Given the description of an element on the screen output the (x, y) to click on. 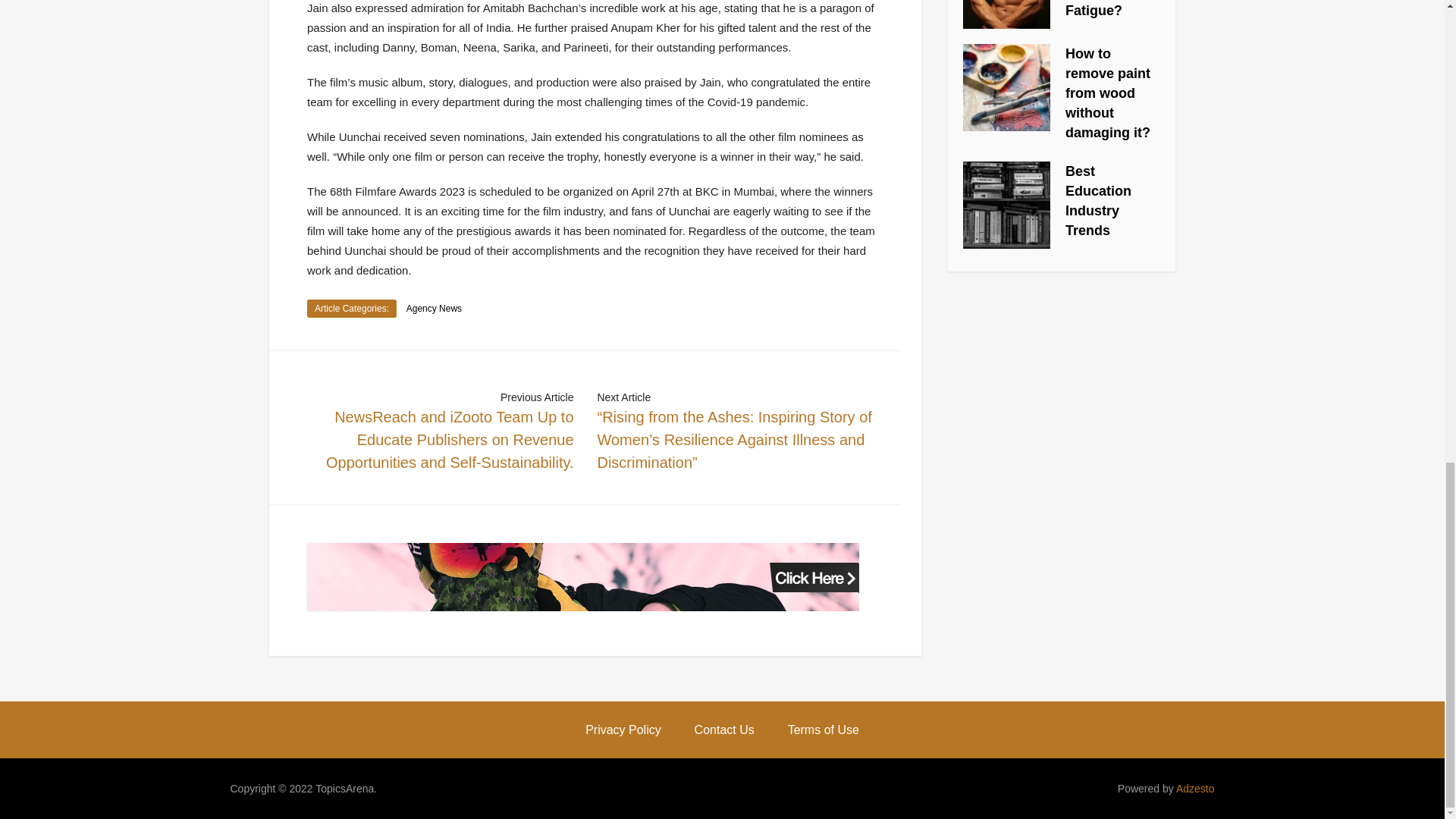
How To Listen To Your Body For Signs Of Fatigue? (1111, 9)
How to remove paint from wood without damaging it? (1107, 92)
Agency News (433, 308)
